Given the description of an element on the screen output the (x, y) to click on. 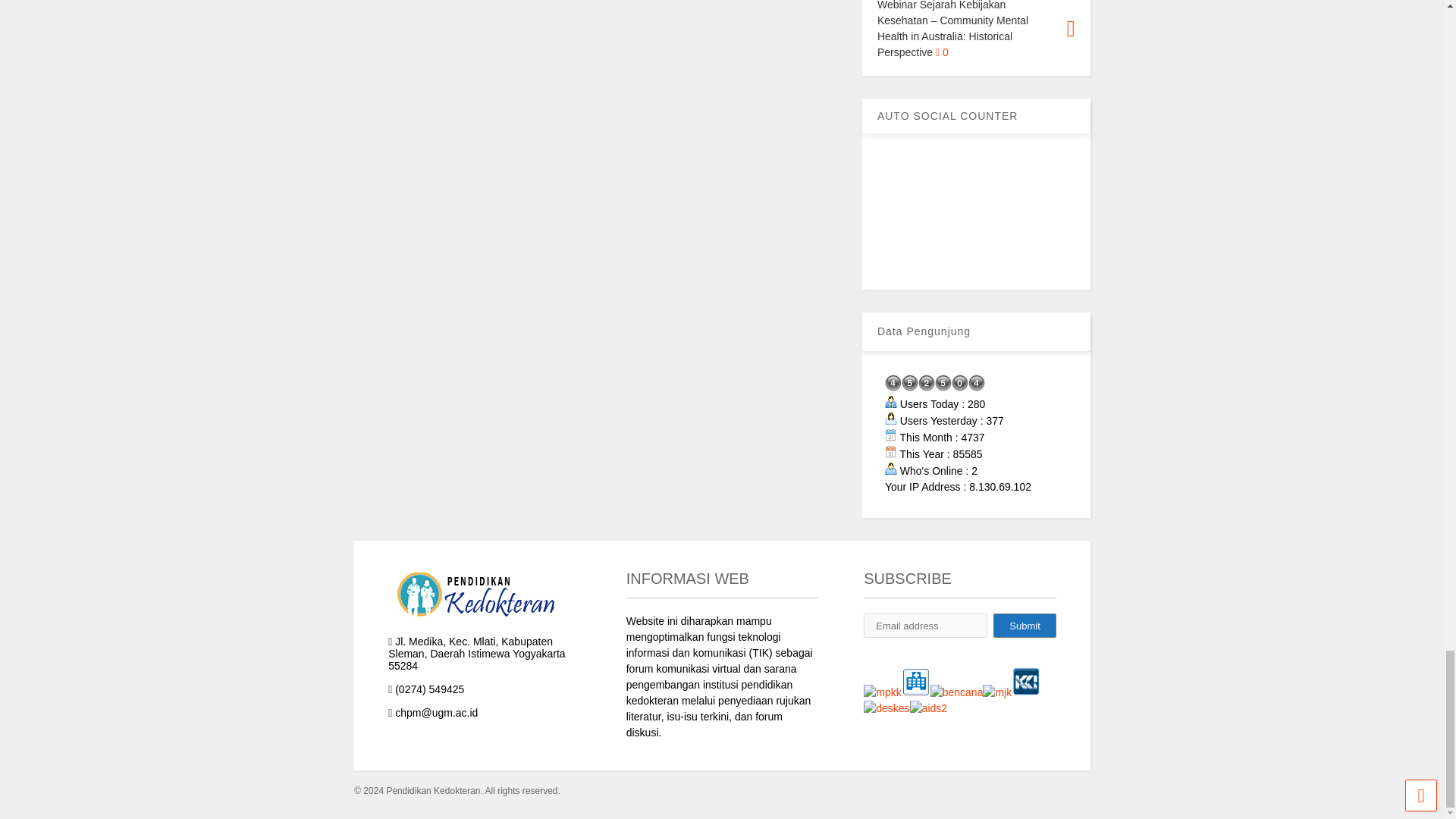
Kebijakan Kesehatan Indonesia (1026, 681)
Manajemen Pembiayaan Kesehatan (996, 692)
Submit (1023, 625)
Manajemen Rumahsakit (915, 682)
Bencana Kesehatan (957, 692)
Pendidikan Kedokteran (882, 692)
manajemen covid (885, 708)
